Given the description of an element on the screen output the (x, y) to click on. 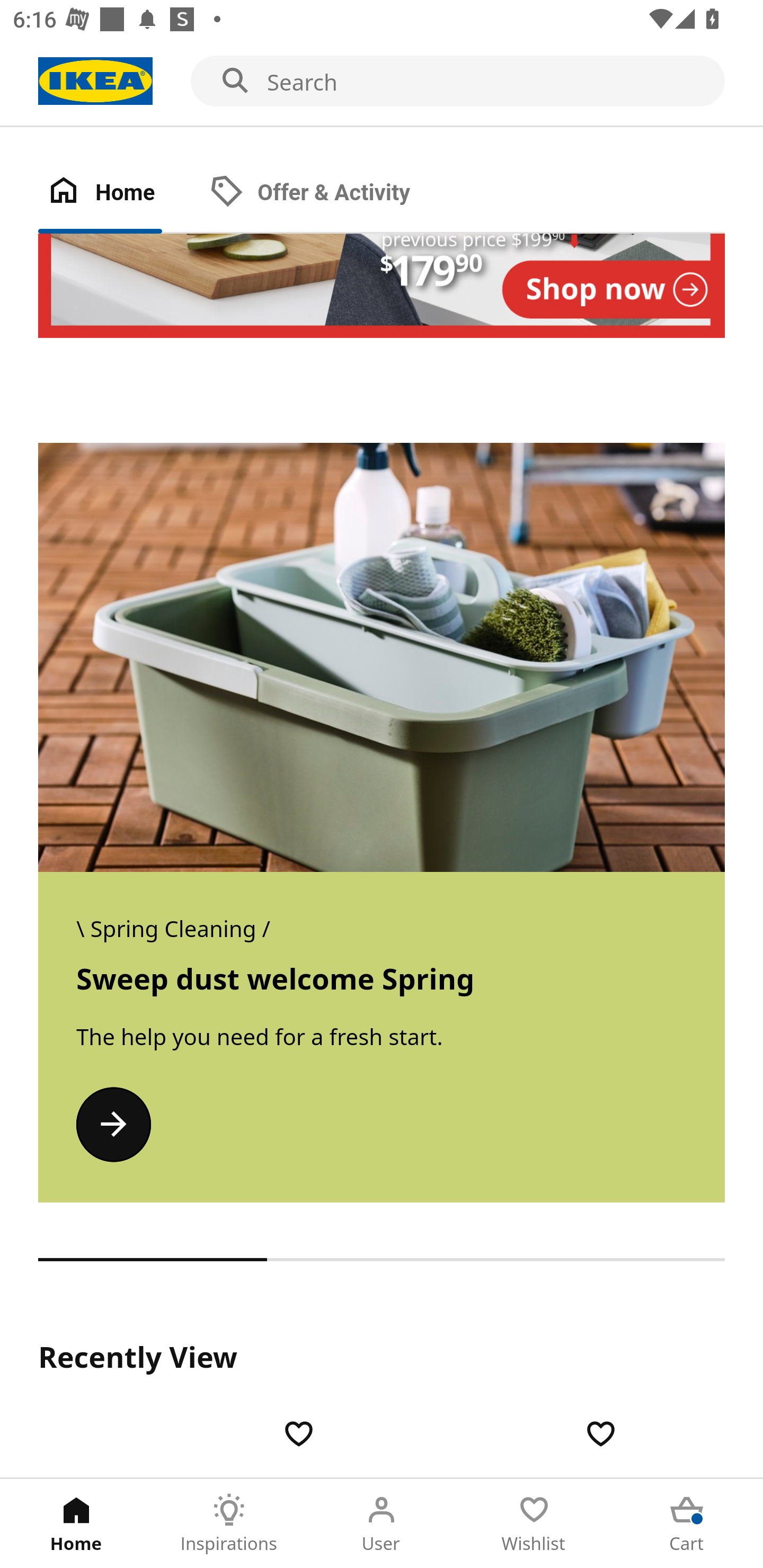
Search (381, 81)
Home
Tab 1 of 2 (118, 192)
Offer & Activity
Tab 2 of 2 (327, 192)
Home
Tab 1 of 5 (76, 1522)
Inspirations
Tab 2 of 5 (228, 1522)
User
Tab 3 of 5 (381, 1522)
Wishlist
Tab 4 of 5 (533, 1522)
Cart
Tab 5 of 5 (686, 1522)
